Given the description of an element on the screen output the (x, y) to click on. 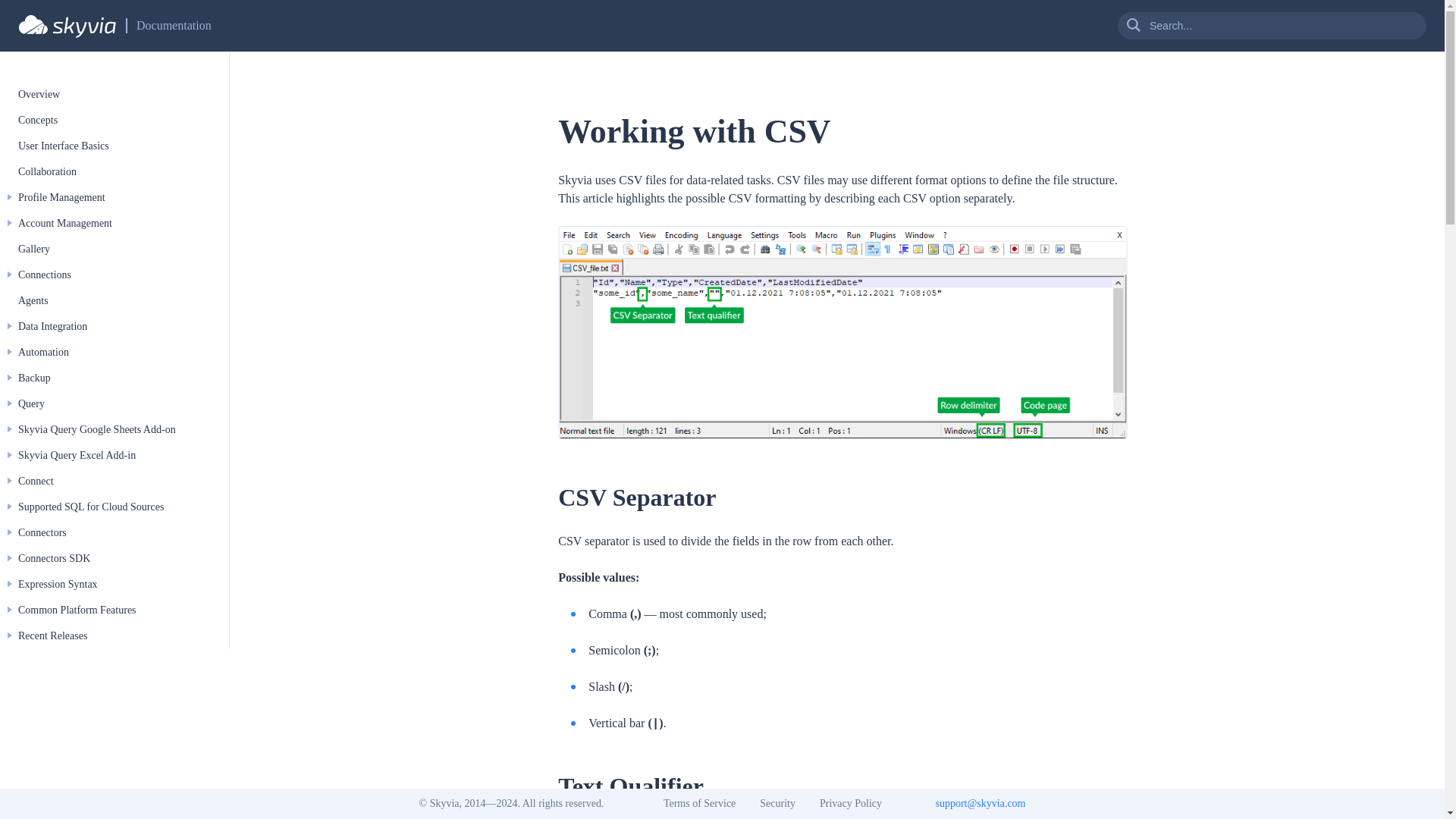
Profile Management (60, 197)
Connections (44, 275)
Documentation (173, 25)
Gallery (33, 249)
Overview (38, 94)
Data Integration (52, 326)
Collaboration (47, 171)
User Interface Basics (63, 145)
Agents (32, 300)
Concepts (37, 120)
Account Management (64, 223)
